Given the description of an element on the screen output the (x, y) to click on. 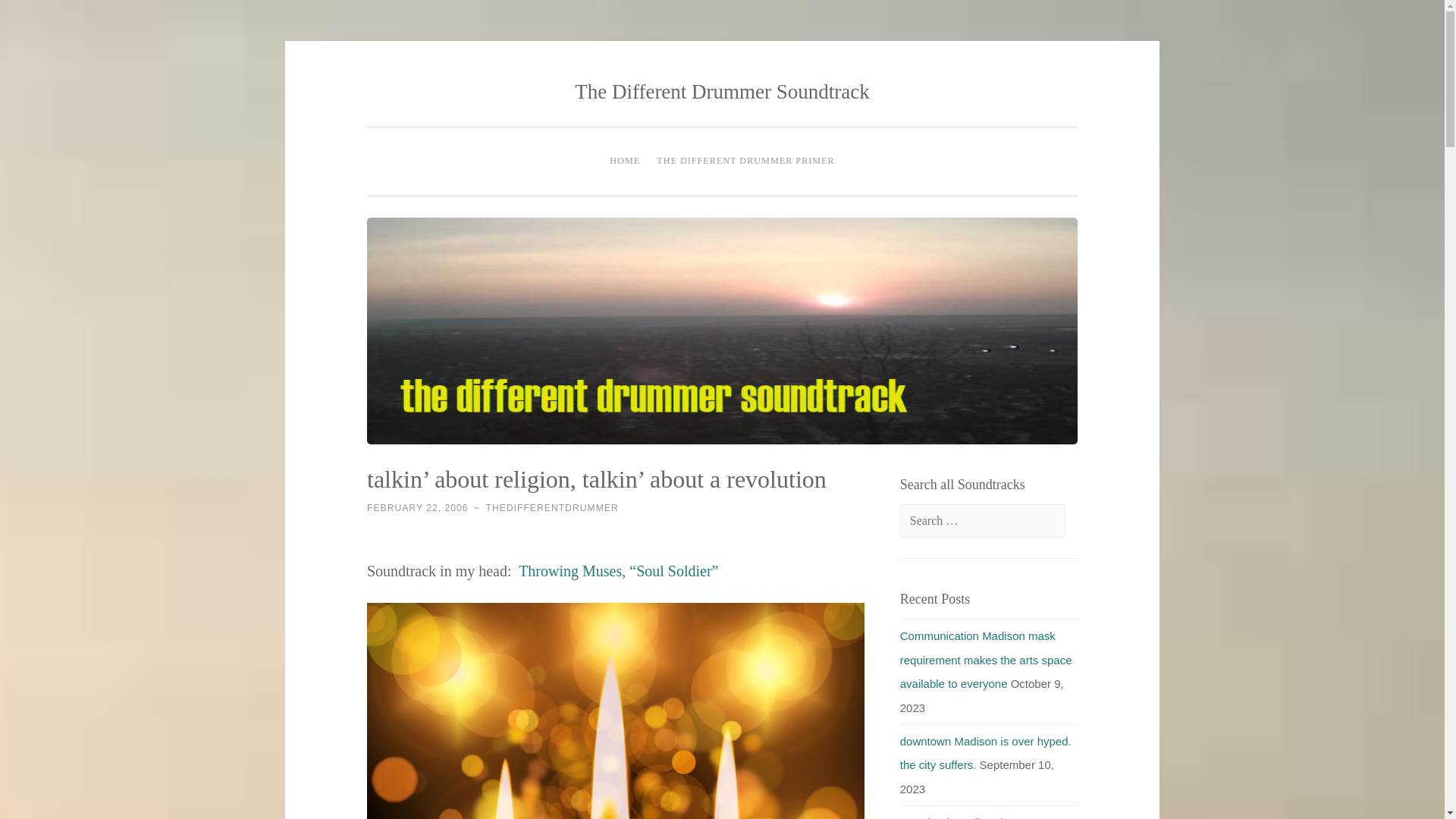
FEBRUARY 22, 2006 (417, 507)
The Different Drummer Soundtrack (722, 91)
Search (39, 16)
THEDIFFERENTDRUMMER (550, 507)
HOME (624, 161)
downtown Madison is over hyped. the city suffers. (985, 752)
THE DIFFERENT DRUMMER PRIMER (745, 161)
